Given the description of an element on the screen output the (x, y) to click on. 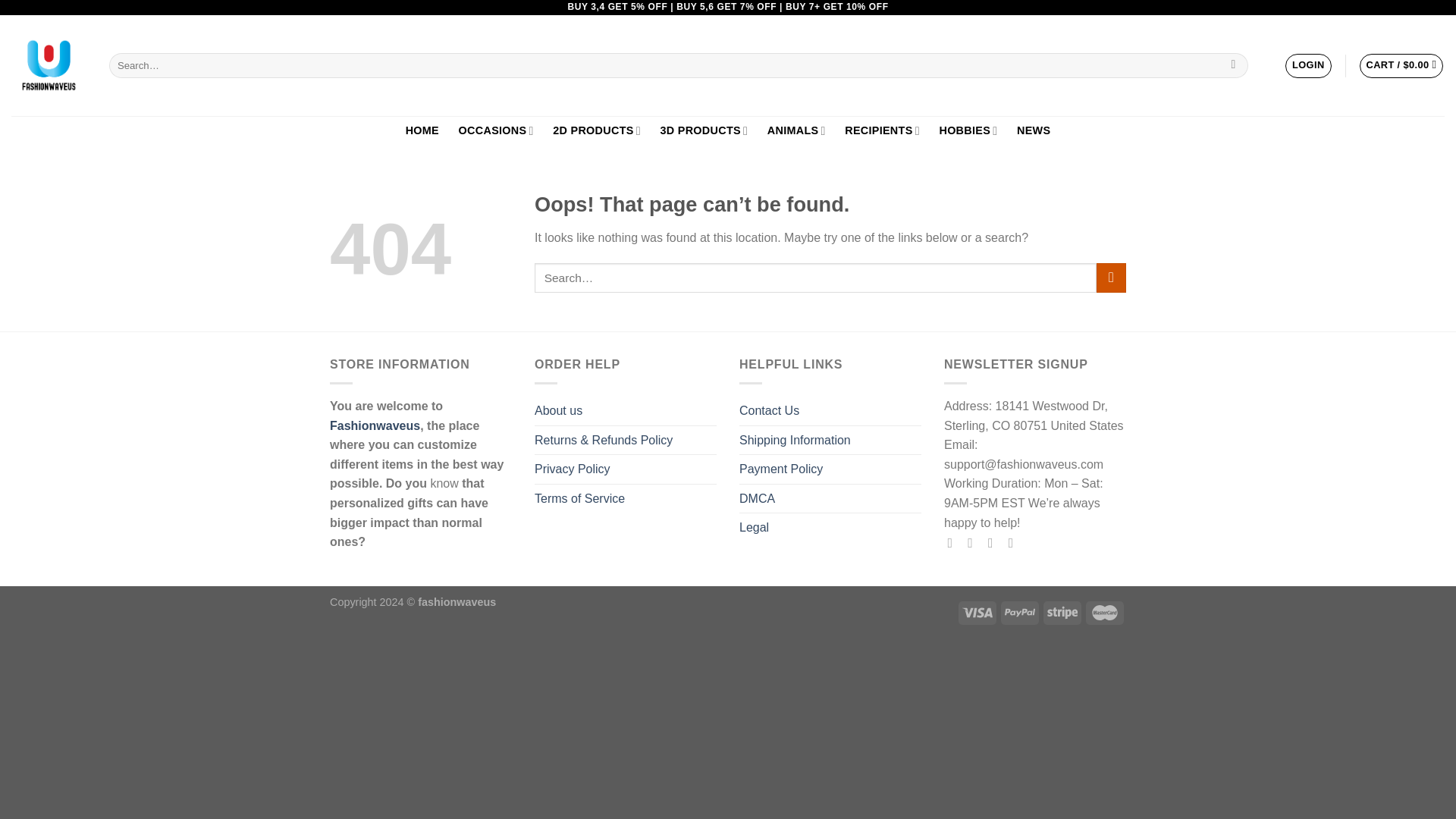
Fashionwaveus (48, 65)
ANIMALS (796, 130)
Follow on Facebook (953, 542)
3D PRODUCTS (703, 130)
RECIPIENTS (881, 130)
Follow on Twitter (994, 542)
OCCASIONS (495, 130)
HOME (422, 130)
Search (1233, 65)
LOGIN (1307, 64)
Follow on Pinterest (1015, 542)
2D PRODUCTS (596, 130)
Cart (1401, 64)
